Given the description of an element on the screen output the (x, y) to click on. 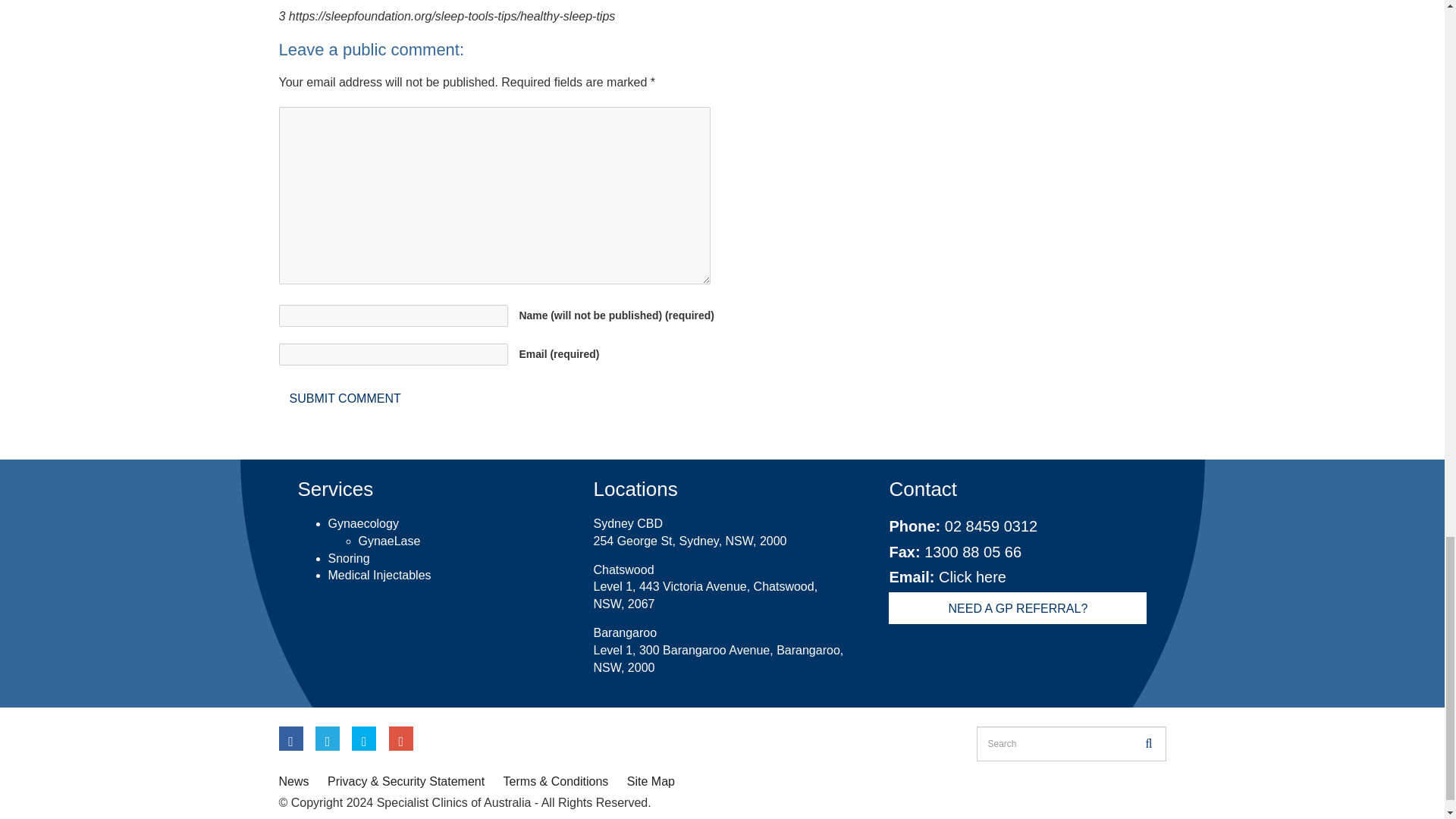
Submit Comment (345, 398)
Submit Comment (345, 398)
